Given the description of an element on the screen output the (x, y) to click on. 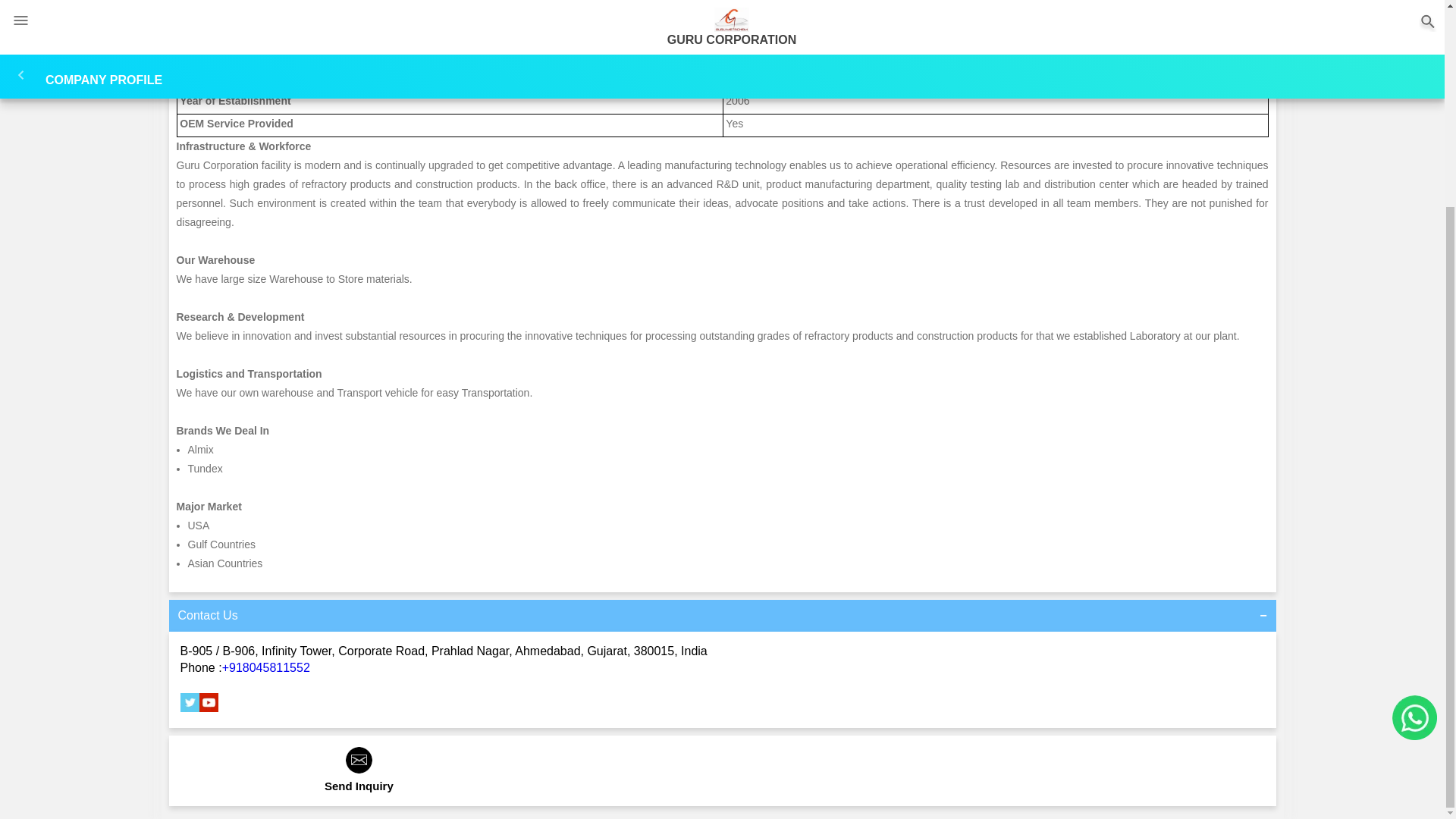
Youtube (207, 707)
Send Inquiry (359, 778)
Twitter (189, 707)
